Given the description of an element on the screen output the (x, y) to click on. 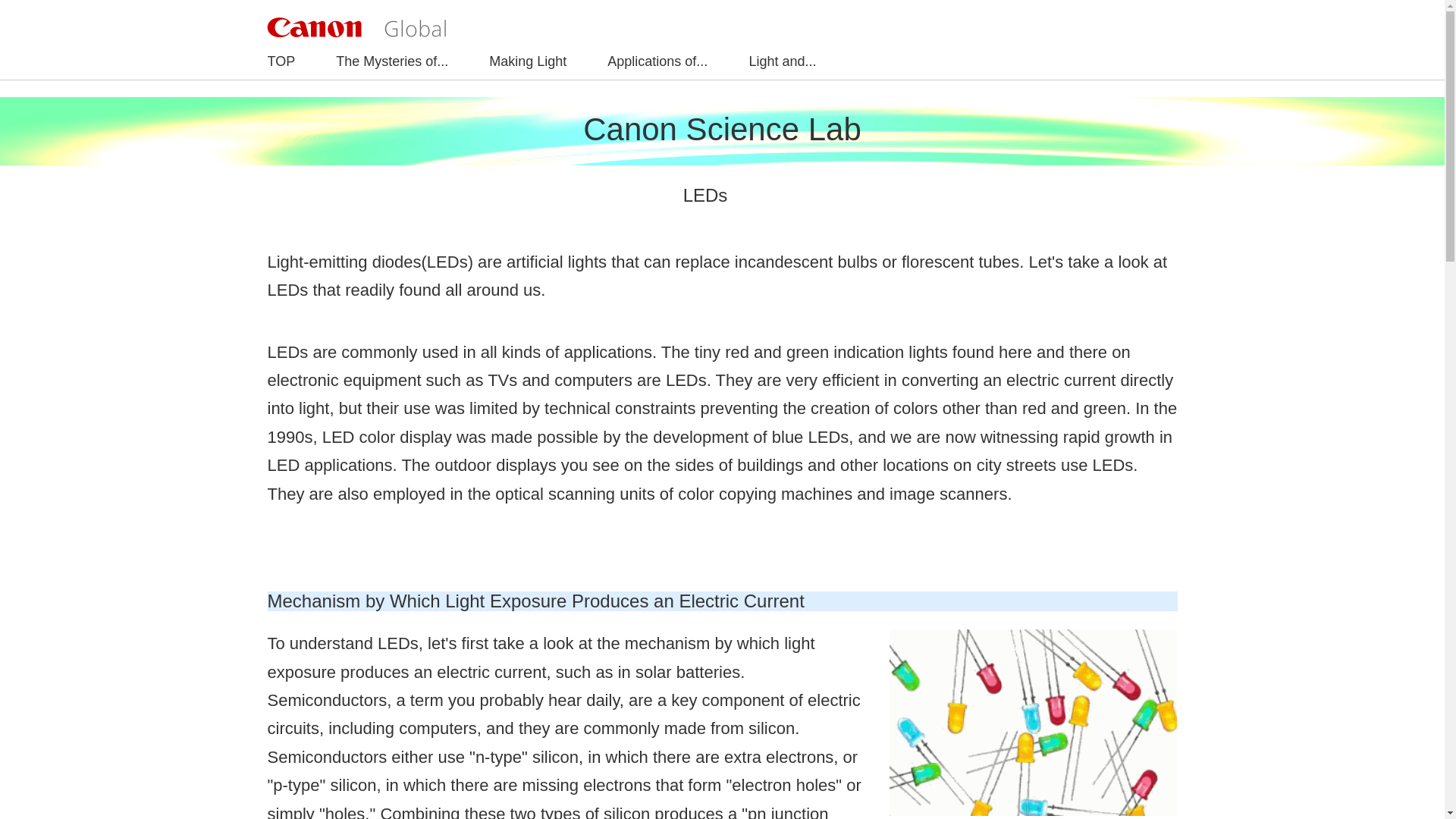
TOP (280, 62)
